Given the description of an element on the screen output the (x, y) to click on. 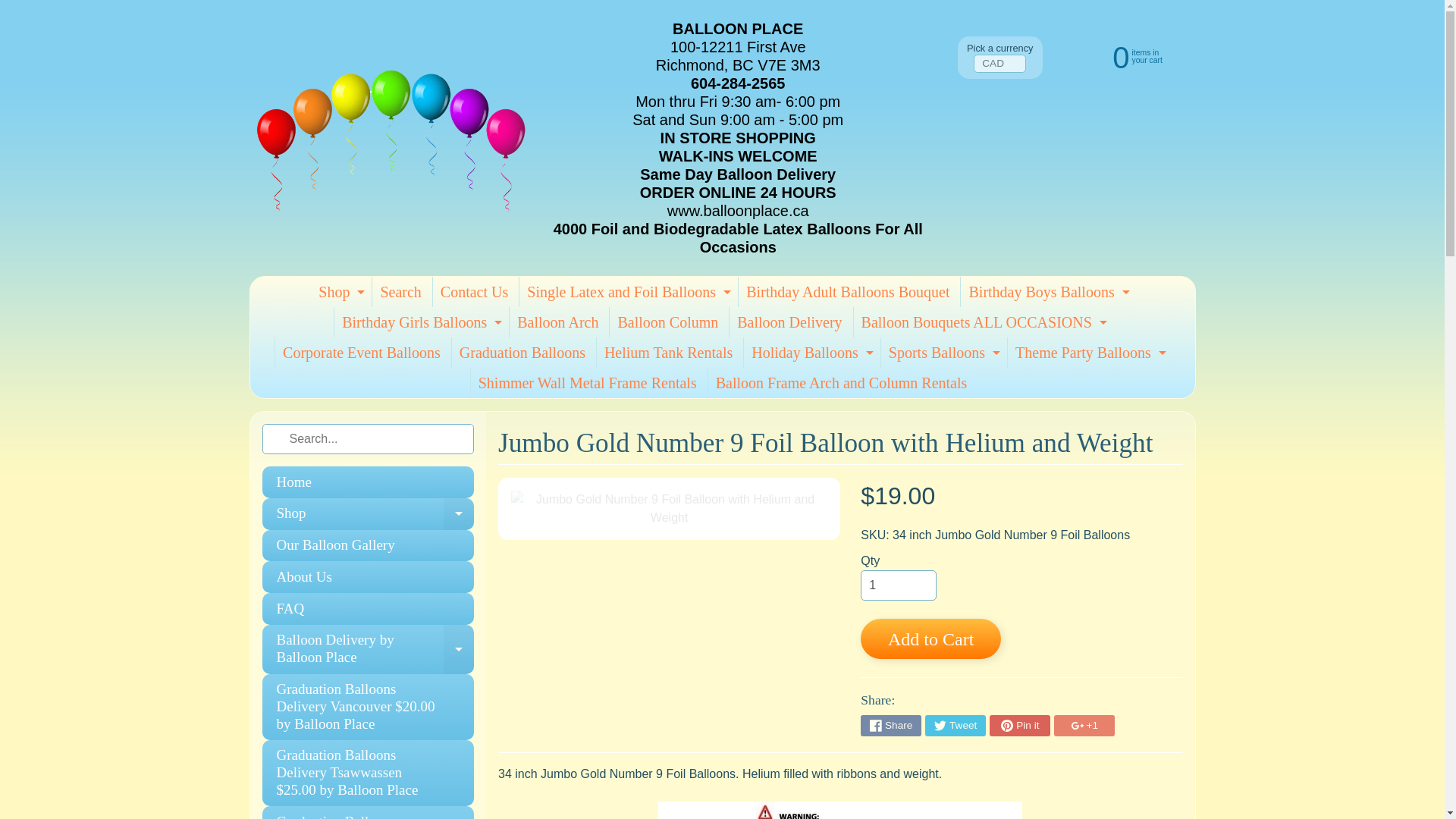
1 (1122, 56)
